Given the description of an element on the screen output the (x, y) to click on. 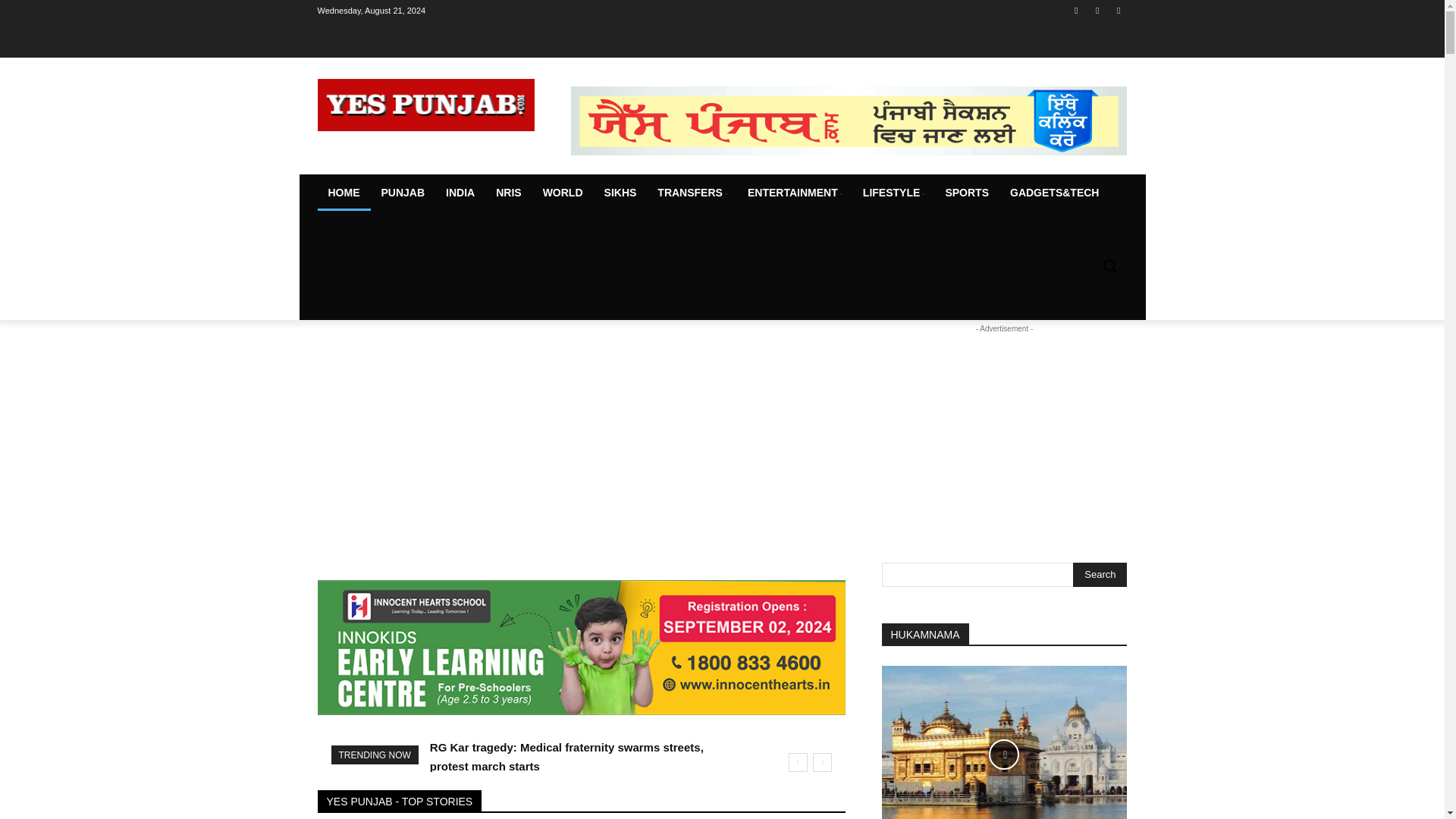
HOME (343, 192)
NRIS (507, 192)
Advertisement (580, 449)
Twitter (1117, 9)
WORLD (563, 192)
PUNJAB (402, 192)
Instagram (1097, 9)
Facebook (1075, 9)
INDIA (459, 192)
